Given the description of an element on the screen output the (x, y) to click on. 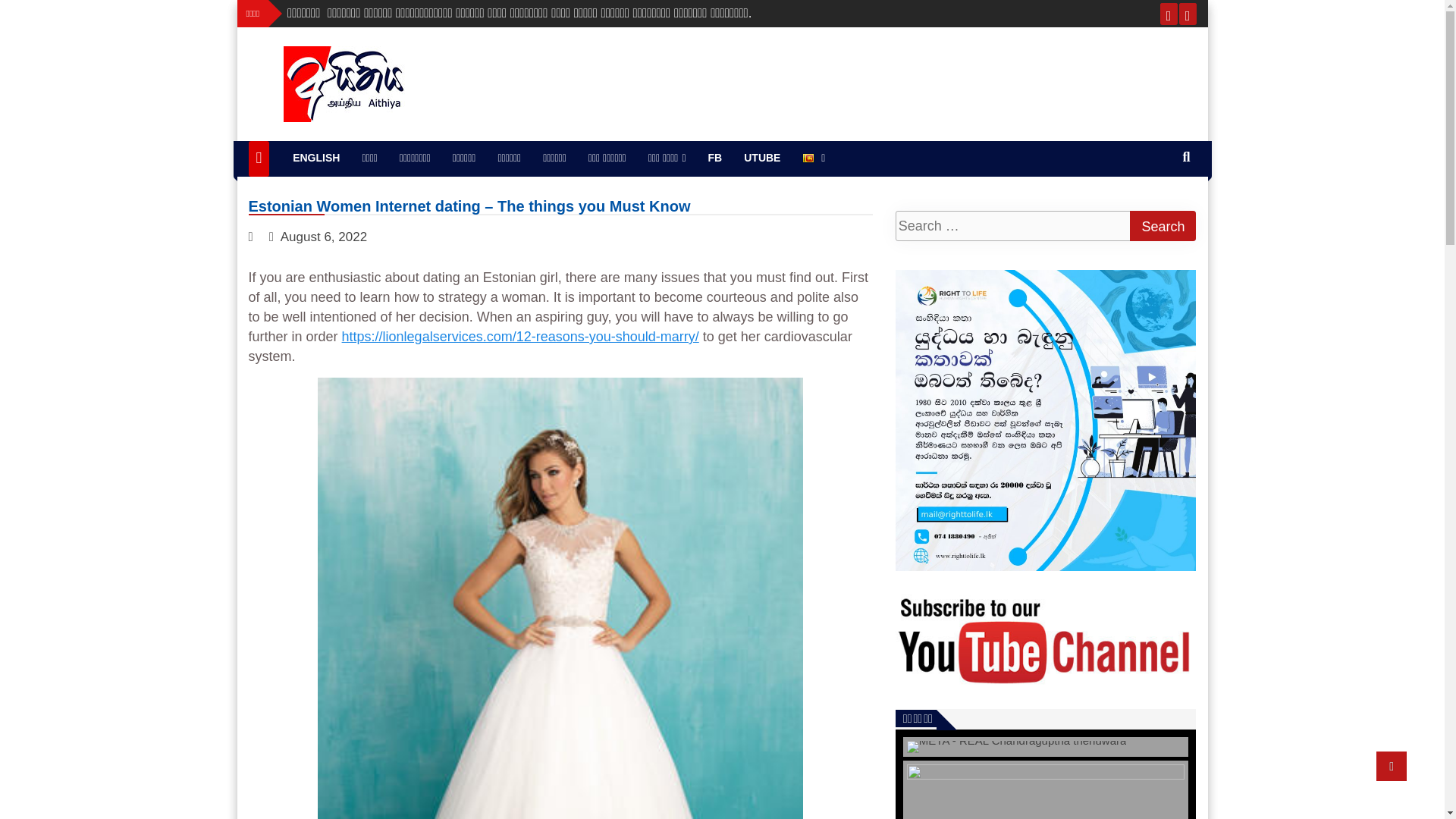
Search (1162, 225)
Sinhala (813, 157)
aithiya (293, 138)
Search (1162, 225)
ENGLISH (316, 157)
